Given the description of an element on the screen output the (x, y) to click on. 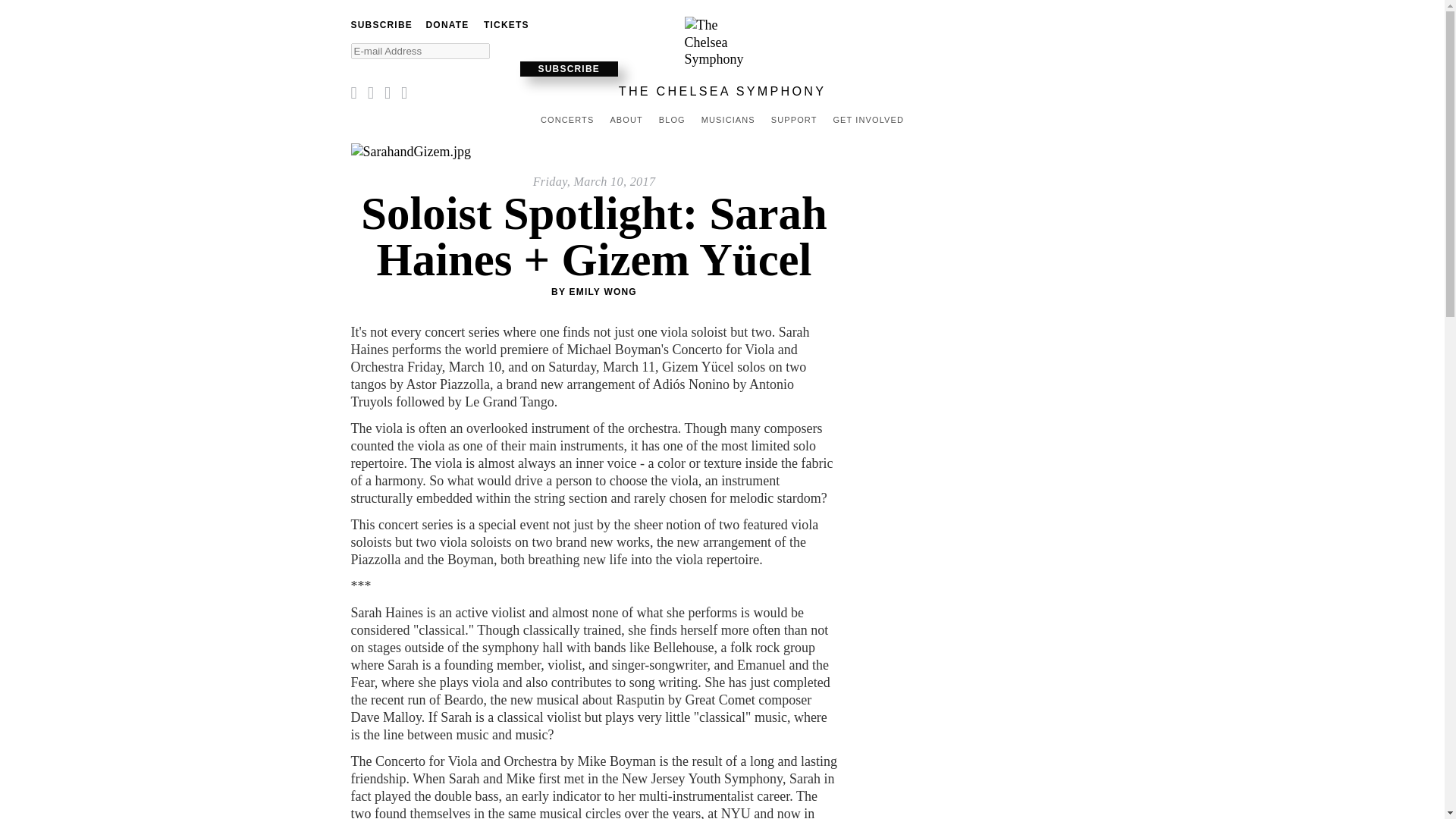
TICKETS (506, 24)
THE CHELSEA SYMPHONY (722, 90)
BLOG (671, 119)
CONCERTS (566, 119)
DONATE (447, 24)
GET INVOLVED (867, 119)
ABOUT (625, 119)
SUPPORT (794, 119)
Subscribe (568, 68)
MUSICIANS (727, 119)
